Given the description of an element on the screen output the (x, y) to click on. 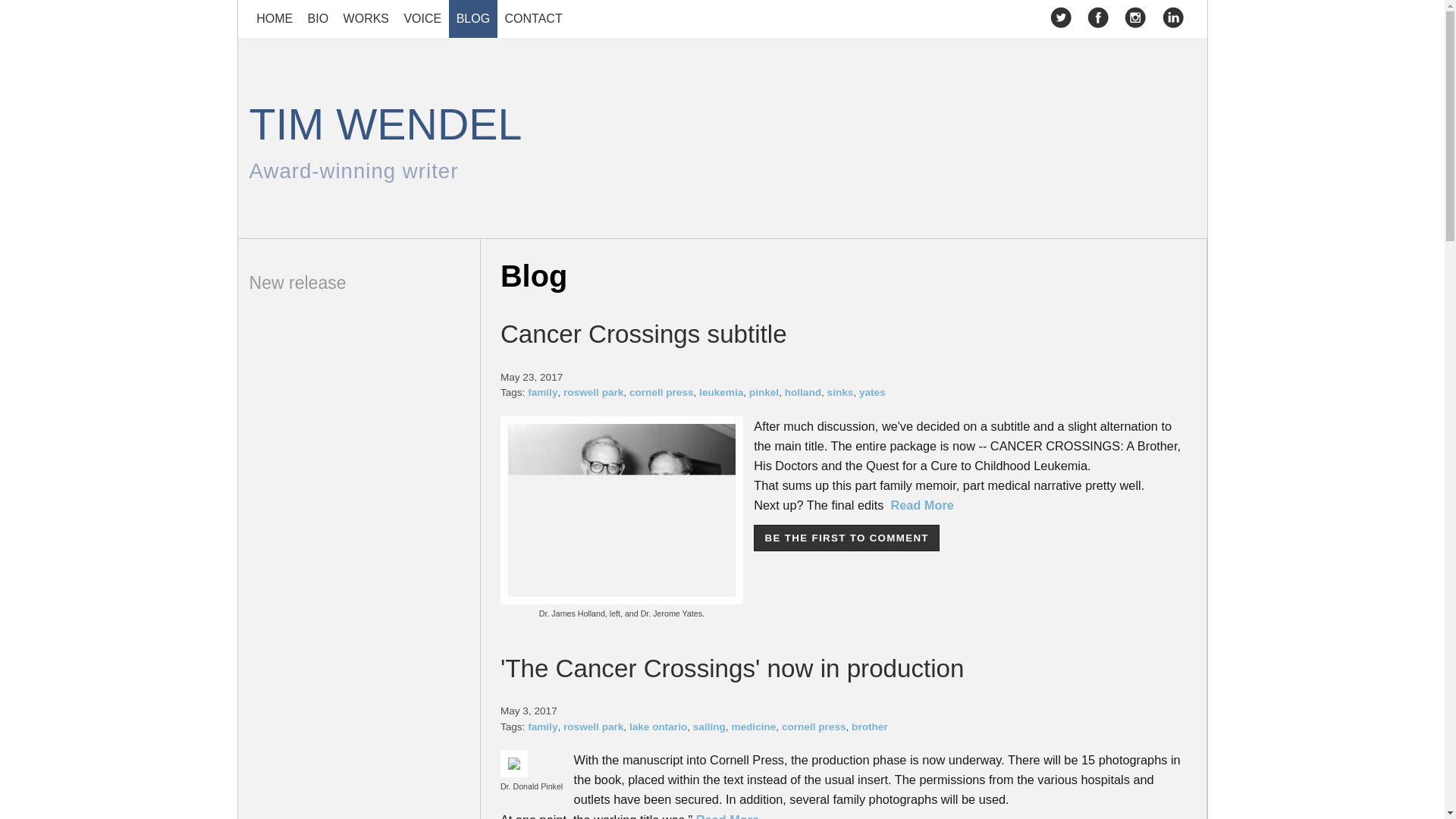
BIO (317, 18)
sailing (721, 140)
VOICE (709, 726)
cornell press (422, 18)
HOME (813, 726)
leukemia (273, 18)
Cancer Crossings subtitle (720, 392)
pinkel (643, 334)
family (763, 392)
